Given the description of an element on the screen output the (x, y) to click on. 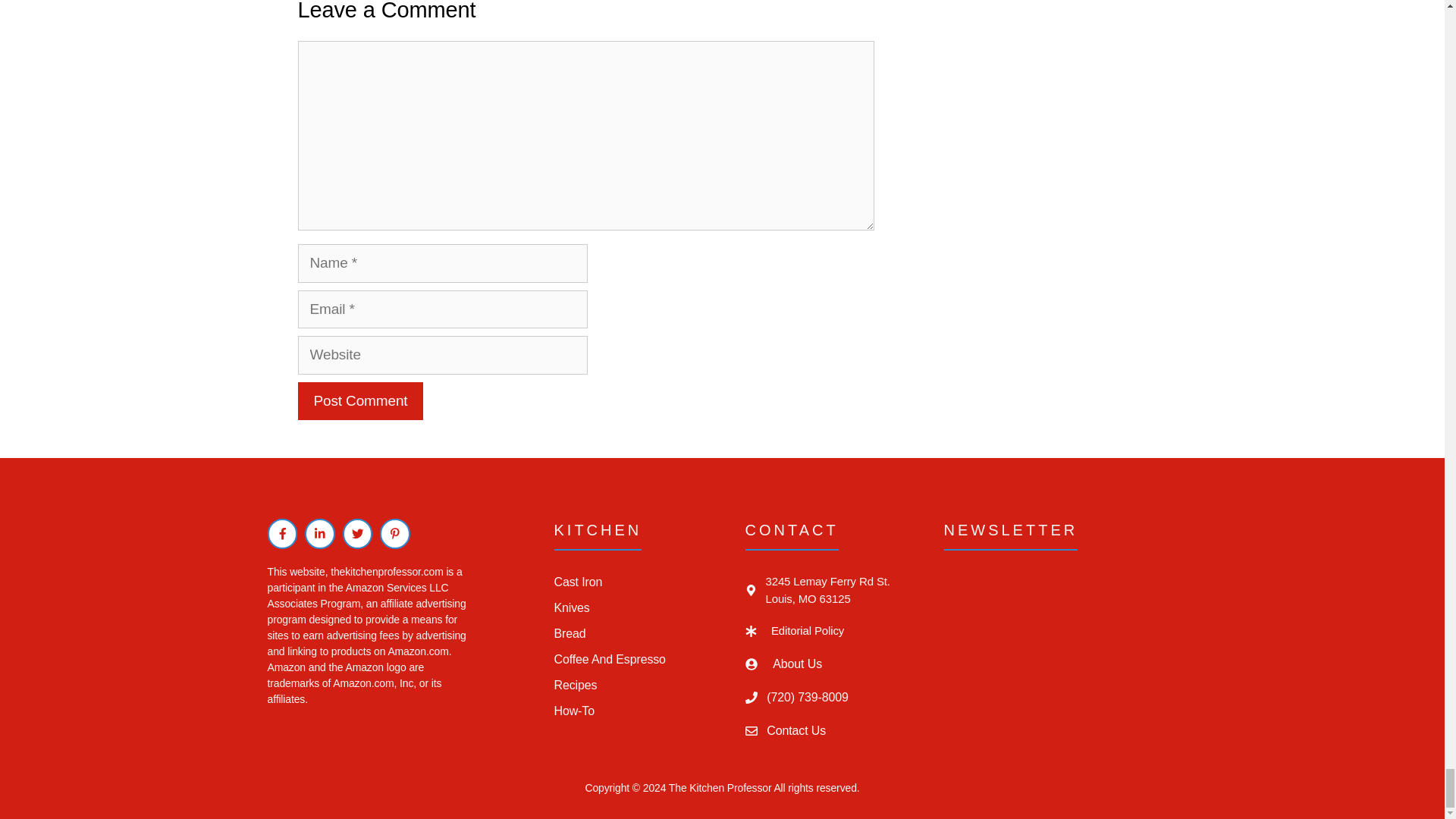
Post Comment (360, 401)
